Given the description of an element on the screen output the (x, y) to click on. 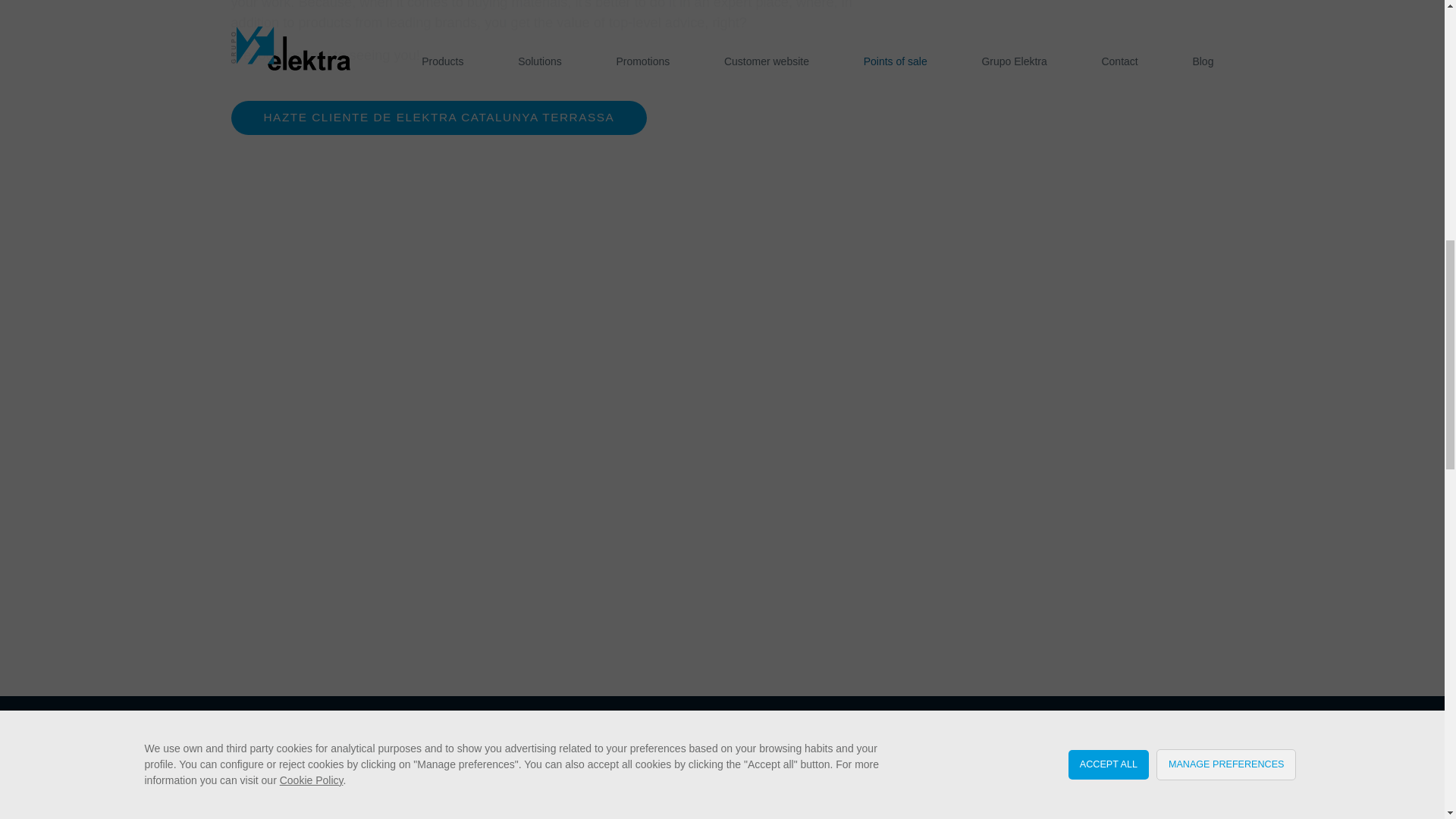
HAZTE CLIENTE DE ELEKTRA CATALUNYA TERRASSA (438, 117)
